Given the description of an element on the screen output the (x, y) to click on. 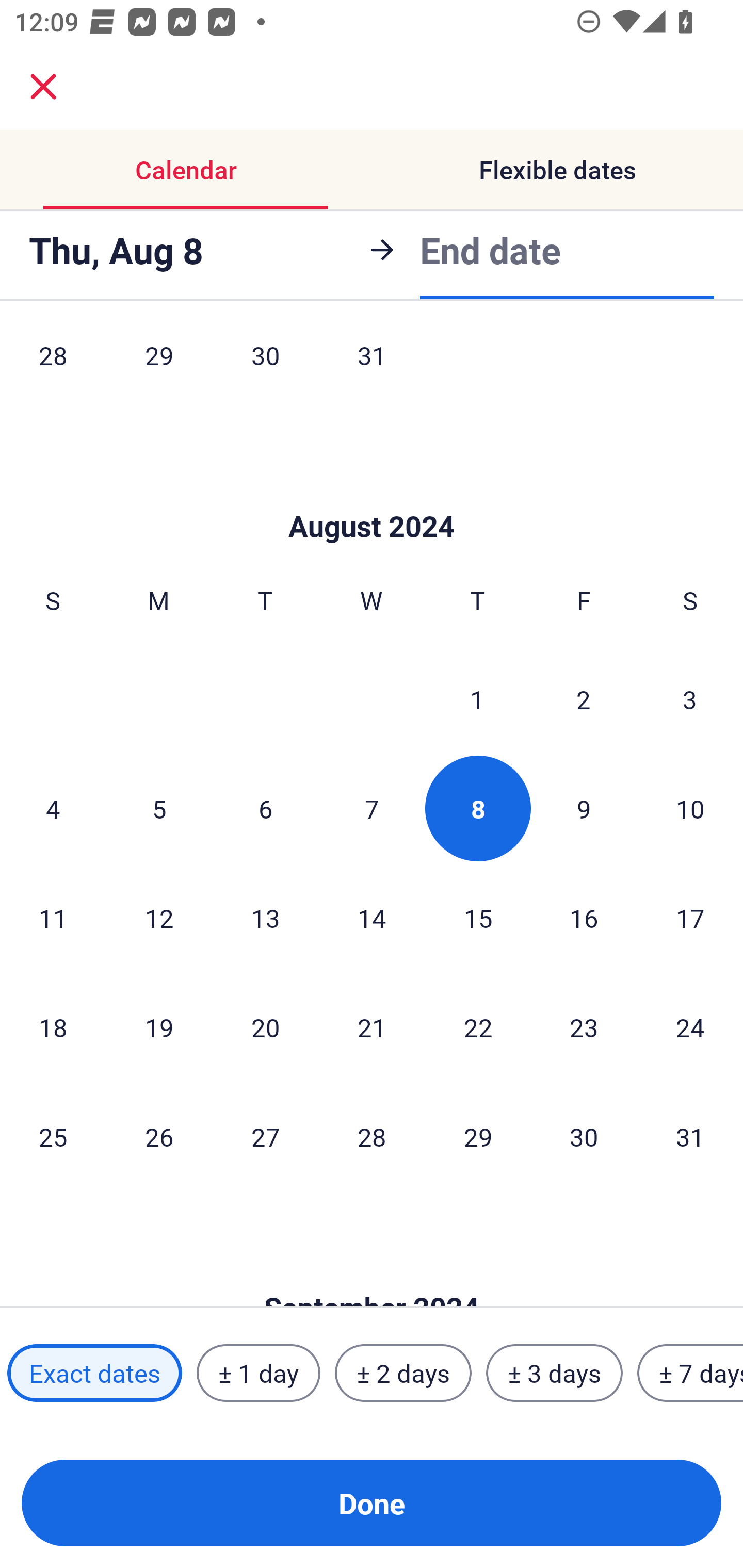
close. (43, 86)
Flexible dates (557, 170)
End date (489, 249)
28 Sunday, July 28, 2024 (53, 368)
29 Monday, July 29, 2024 (159, 368)
30 Tuesday, July 30, 2024 (265, 368)
31 Wednesday, July 31, 2024 (371, 368)
Skip to Done (371, 495)
1 Thursday, August 1, 2024 (477, 699)
2 Friday, August 2, 2024 (583, 699)
3 Saturday, August 3, 2024 (689, 699)
4 Sunday, August 4, 2024 (53, 807)
5 Monday, August 5, 2024 (159, 807)
6 Tuesday, August 6, 2024 (265, 807)
7 Wednesday, August 7, 2024 (371, 807)
9 Friday, August 9, 2024 (584, 807)
10 Saturday, August 10, 2024 (690, 807)
11 Sunday, August 11, 2024 (53, 917)
12 Monday, August 12, 2024 (159, 917)
13 Tuesday, August 13, 2024 (265, 917)
14 Wednesday, August 14, 2024 (371, 917)
15 Thursday, August 15, 2024 (477, 917)
16 Friday, August 16, 2024 (584, 917)
17 Saturday, August 17, 2024 (690, 917)
18 Sunday, August 18, 2024 (53, 1026)
19 Monday, August 19, 2024 (159, 1026)
20 Tuesday, August 20, 2024 (265, 1026)
21 Wednesday, August 21, 2024 (371, 1026)
22 Thursday, August 22, 2024 (477, 1026)
23 Friday, August 23, 2024 (584, 1026)
24 Saturday, August 24, 2024 (690, 1026)
25 Sunday, August 25, 2024 (53, 1136)
26 Monday, August 26, 2024 (159, 1136)
27 Tuesday, August 27, 2024 (265, 1136)
28 Wednesday, August 28, 2024 (371, 1136)
29 Thursday, August 29, 2024 (477, 1136)
30 Friday, August 30, 2024 (584, 1136)
31 Saturday, August 31, 2024 (690, 1136)
Exact dates (94, 1372)
± 1 day (258, 1372)
± 2 days (403, 1372)
± 3 days (553, 1372)
± 7 days (690, 1372)
Done (371, 1502)
